Given the description of an element on the screen output the (x, y) to click on. 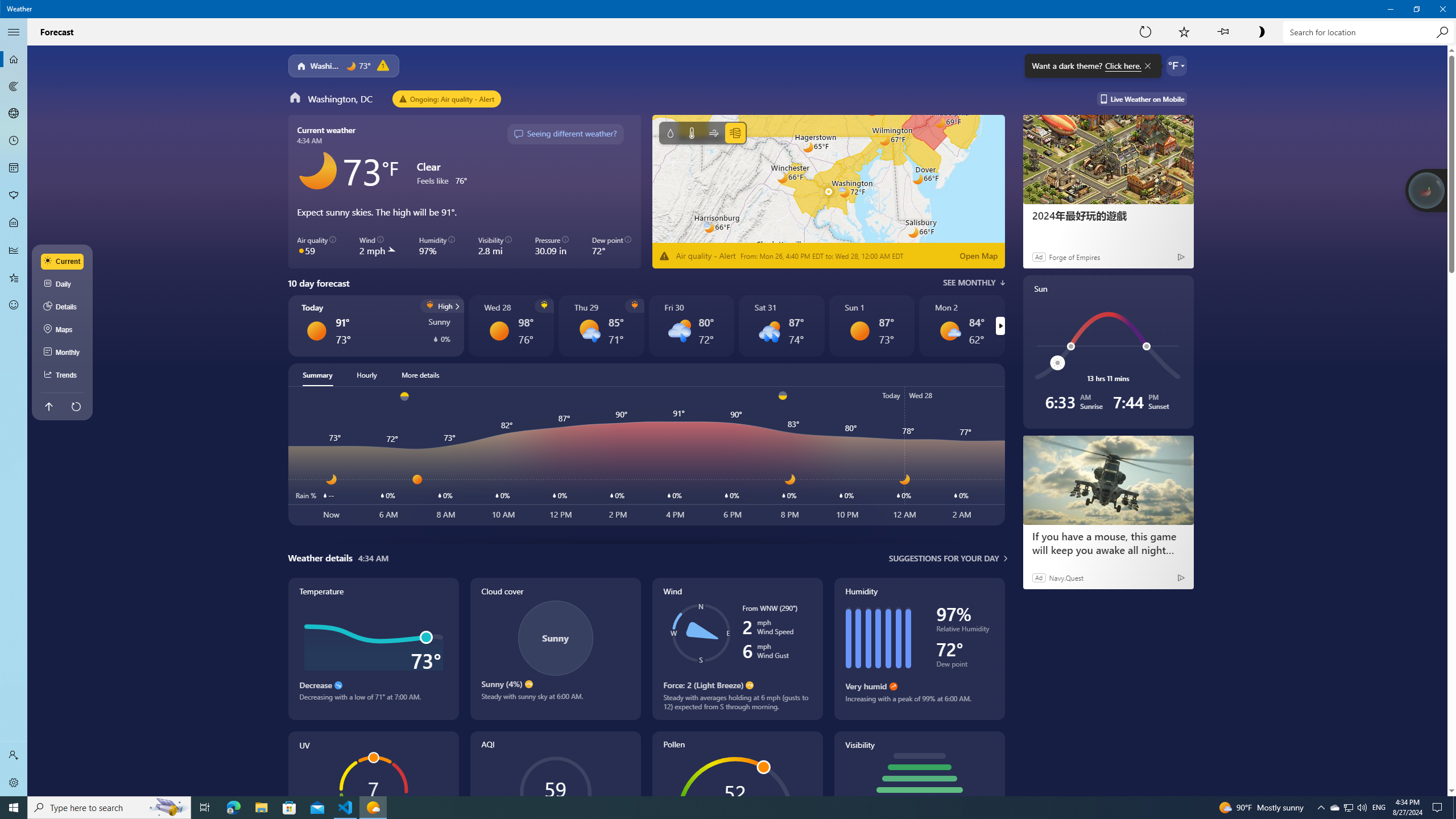
Collapse Navigation (13, 31)
Historical Weather - Not Selected (13, 249)
Life - Not Selected (13, 222)
Favorites - Not Selected (13, 277)
Search (1442, 31)
Close Weather (1442, 9)
Maps - Not Selected (13, 85)
Hourly Forecast - Not Selected (13, 140)
Forecast - Not Selected (13, 58)
